Given the description of an element on the screen output the (x, y) to click on. 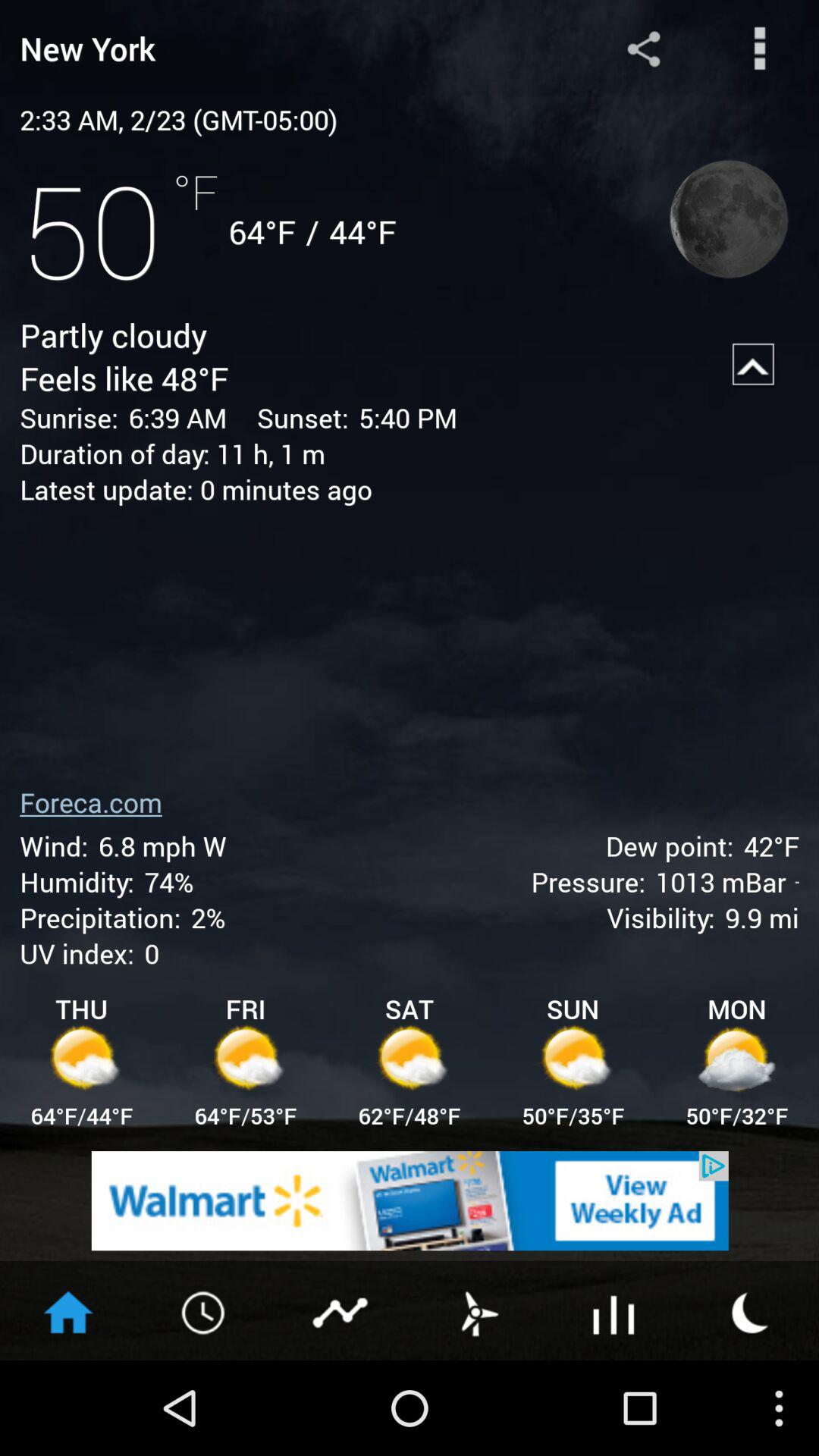
show the wifi option (614, 1311)
